Given the description of an element on the screen output the (x, y) to click on. 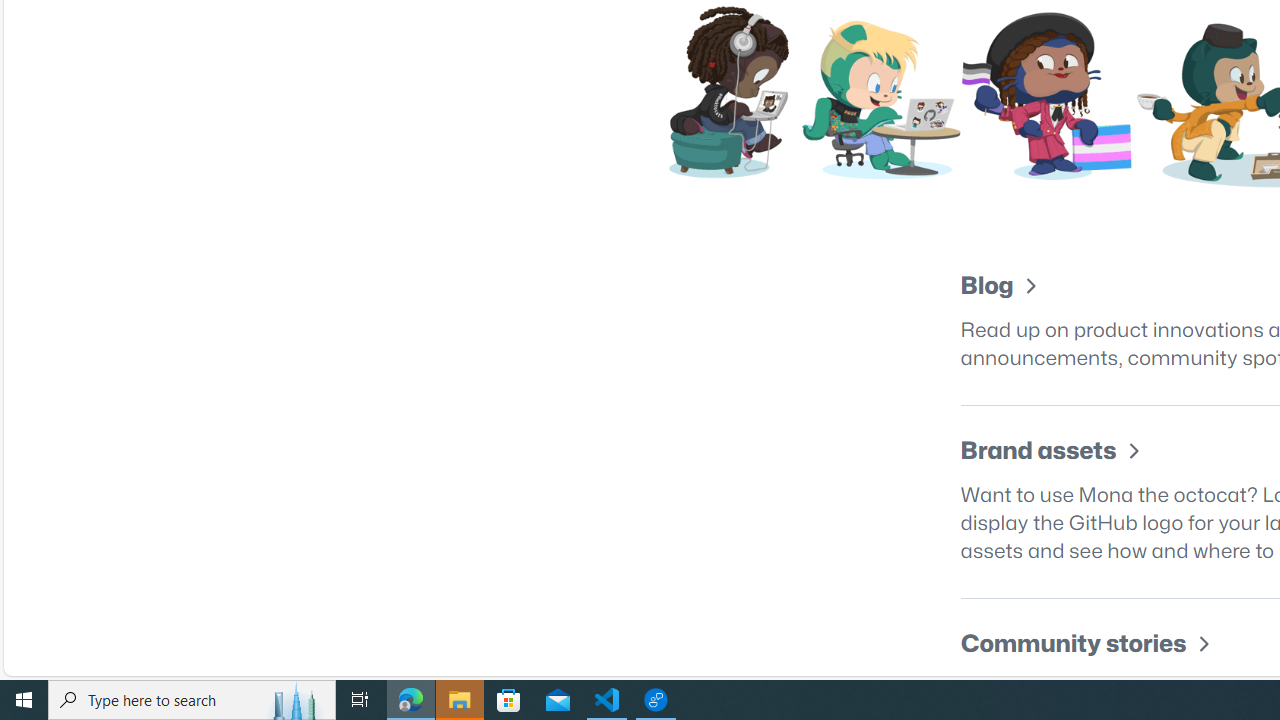
Class: octicon arrow-symbol-mktg (1203, 644)
